Given the description of an element on the screen output the (x, y) to click on. 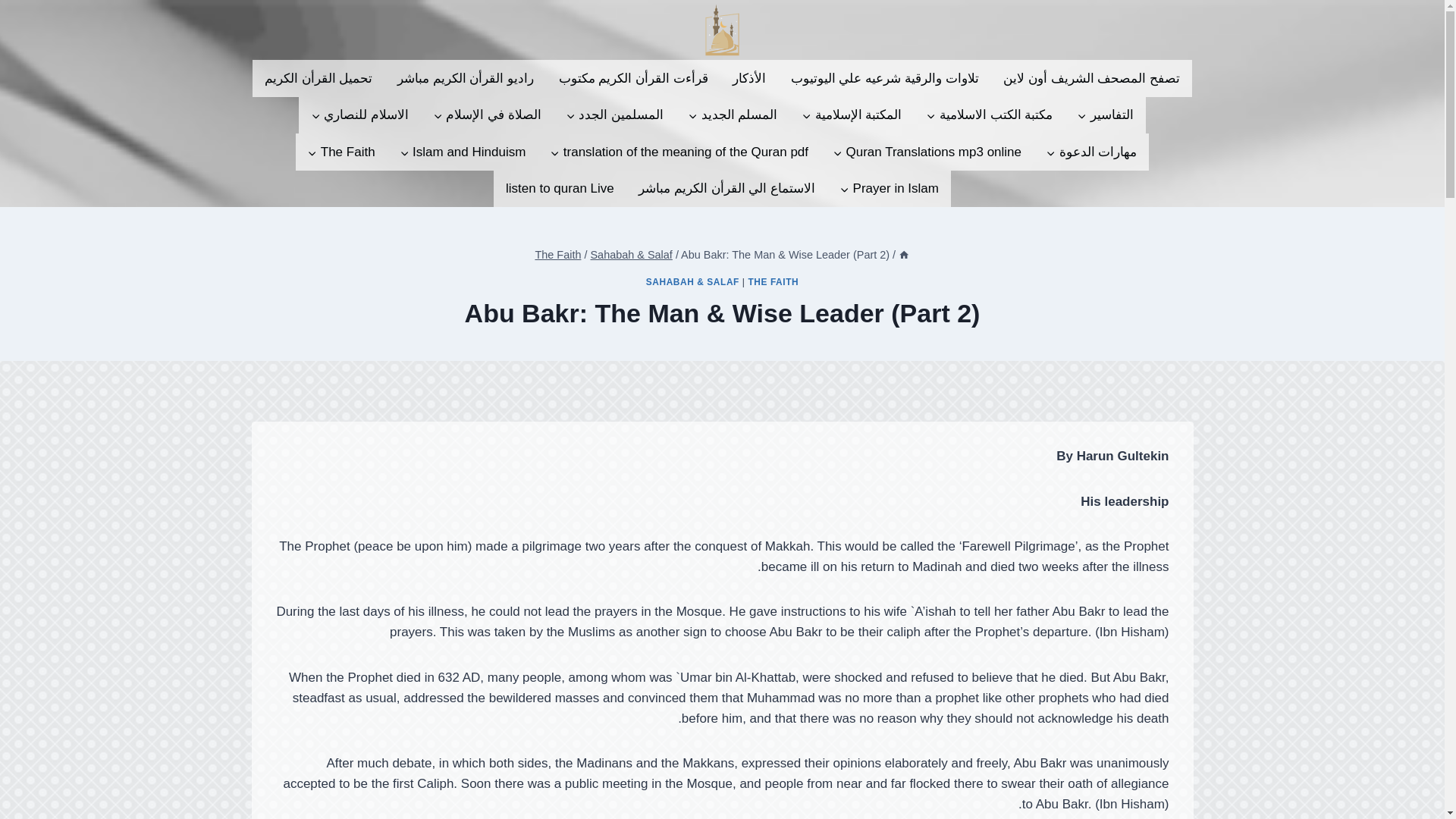
Home (903, 254)
